Given the description of an element on the screen output the (x, y) to click on. 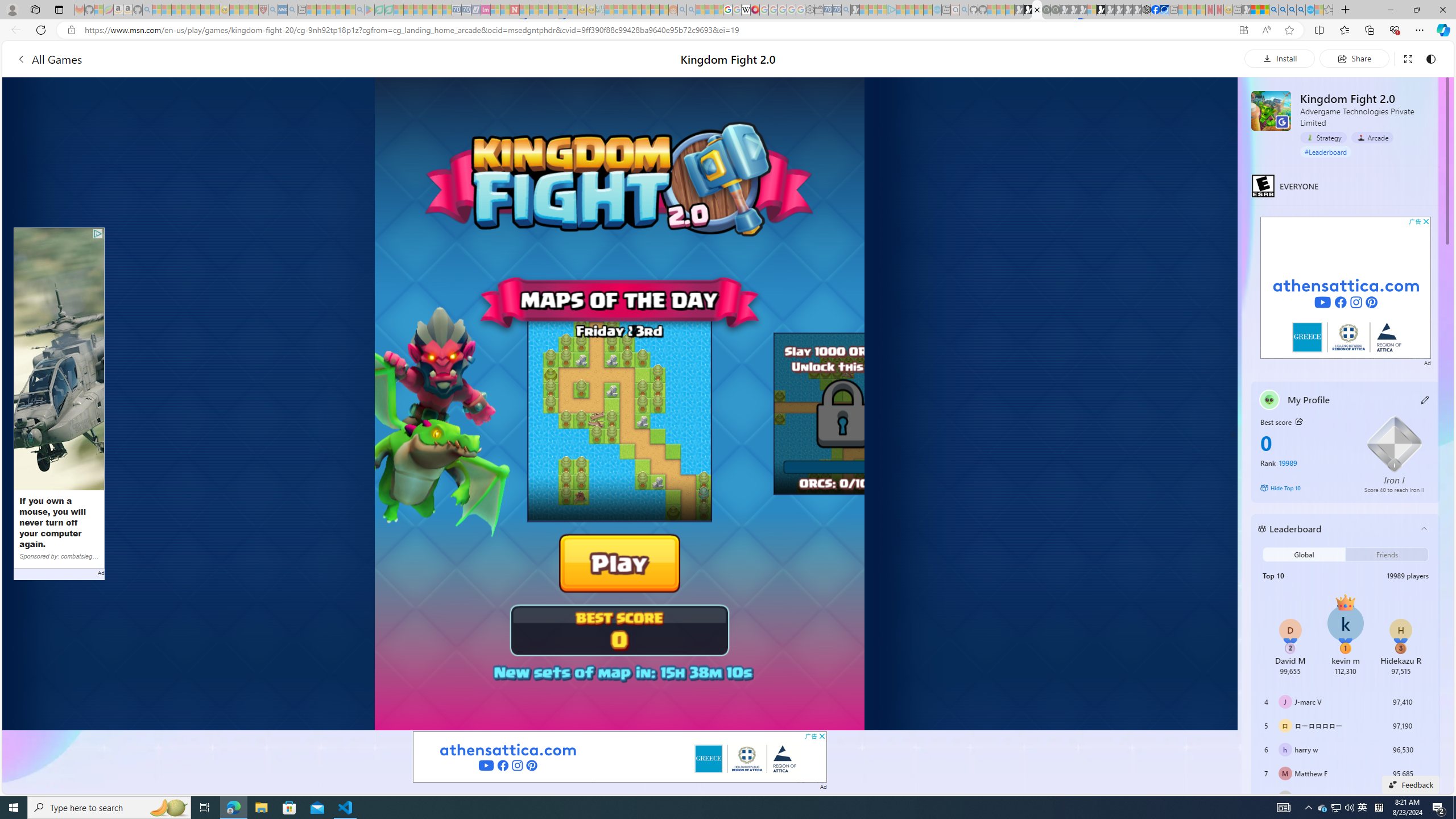
Cheap Car Rentals - Save70.com - Sleeping (836, 9)
AutomationID: cbb (1425, 221)
The Weather Channel - MSN - Sleeping (175, 9)
Microsoft Start - Sleeping (919, 9)
Trusted Community Engagement and Contributions | Guidelines (524, 9)
All Games (253, 58)
Jobs - lastminute.com Investor Portal - Sleeping (485, 9)
